Given the description of an element on the screen output the (x, y) to click on. 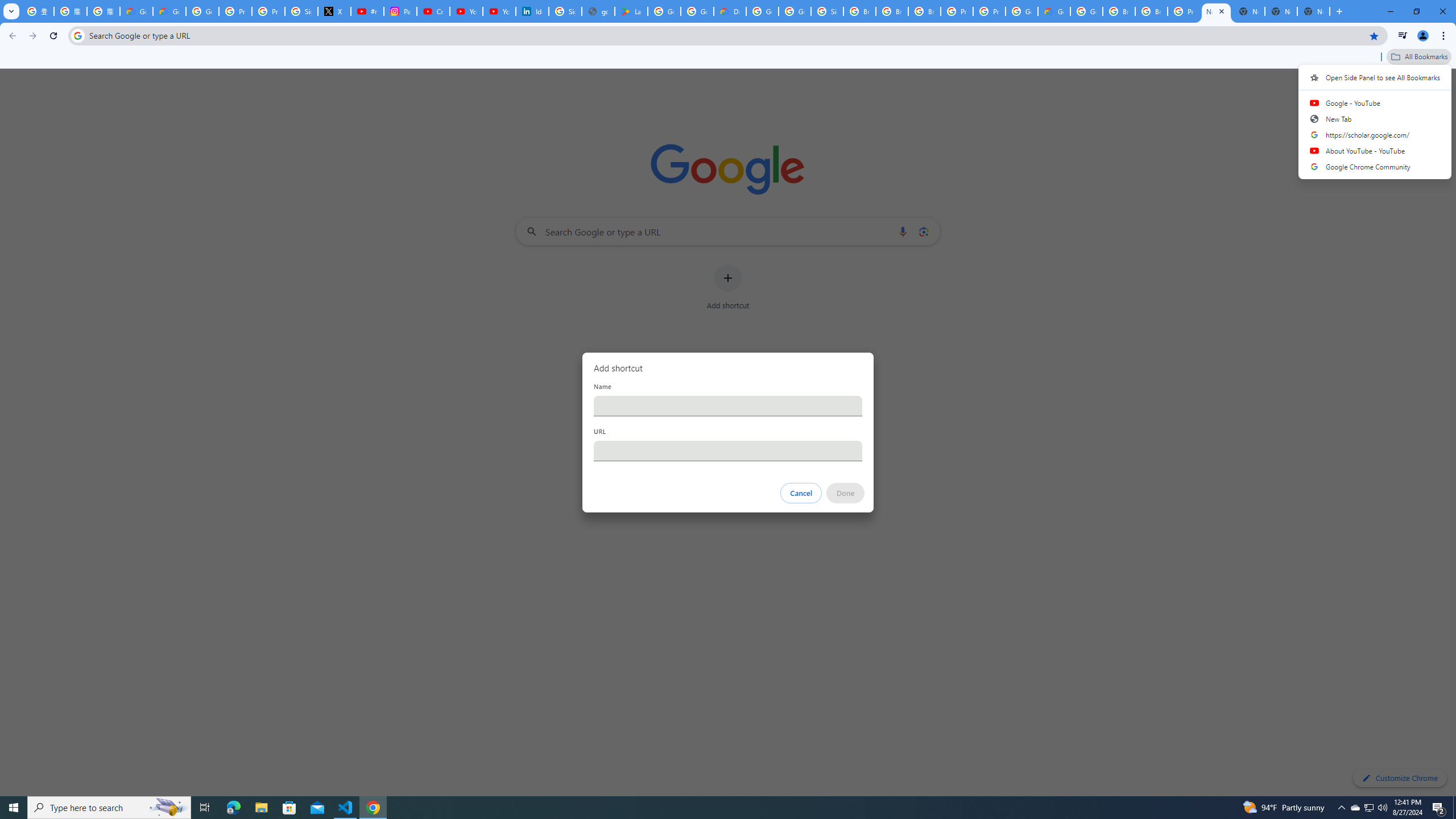
Google - YouTube (1374, 102)
Google Cloud Platform (1021, 11)
Bookmark this tab (1373, 35)
Google Chrome Community (1374, 166)
Bookmarks (728, 58)
Sign in - Google Accounts (827, 11)
Last Shelter: Survival - Apps on Google Play (631, 11)
Google Cloud Estimate Summary (1053, 11)
Chrome (1445, 35)
System (6, 6)
You (1422, 35)
New Tab (1313, 11)
Browse Chrome as a guest - Computer - Google Chrome Help (1118, 11)
